Given the description of an element on the screen output the (x, y) to click on. 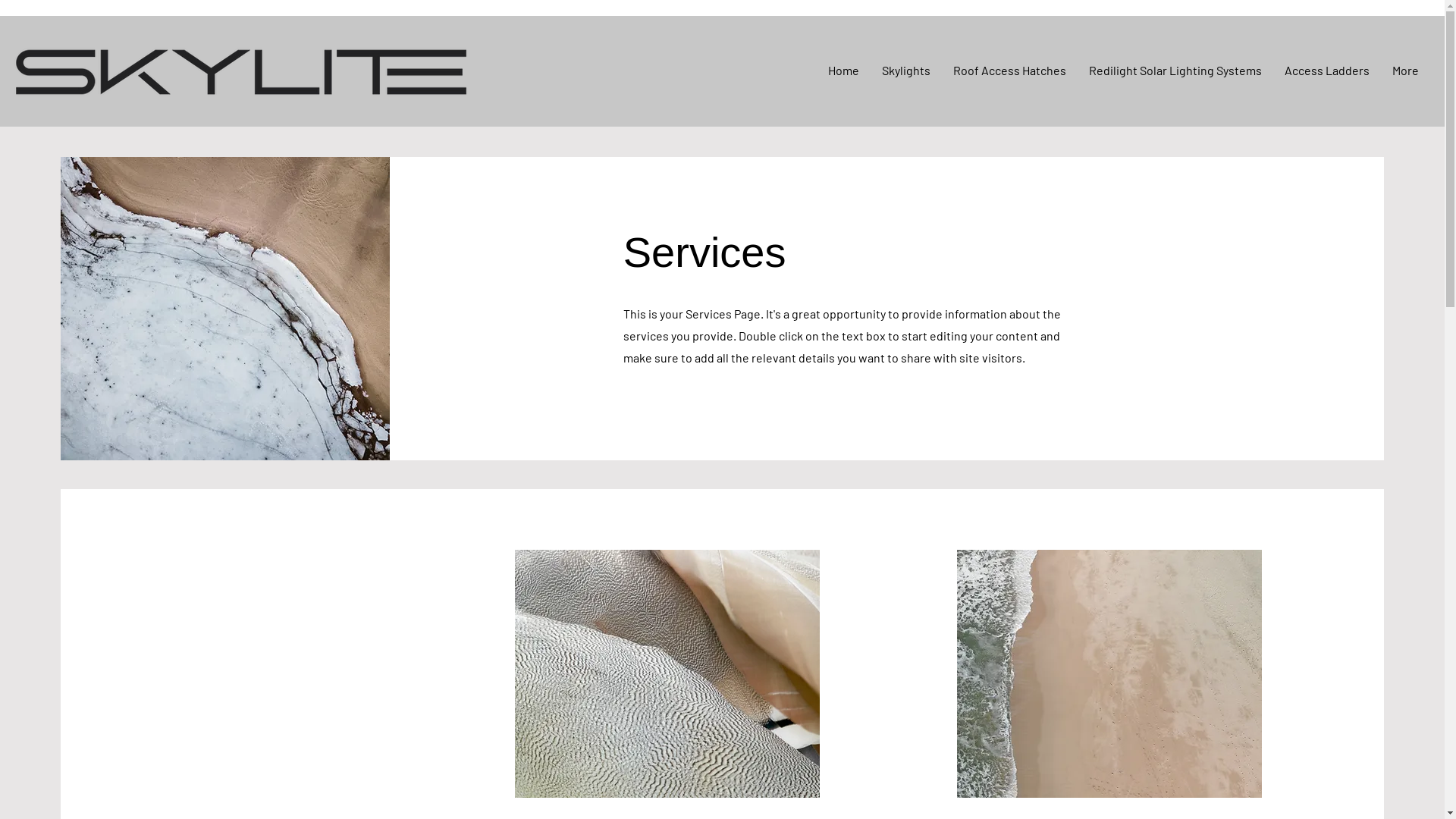
Skylights Element type: text (905, 70)
Redilight Solar Lighting Systems Element type: text (1175, 70)
Access Ladders Element type: text (1326, 70)
Home Element type: text (843, 70)
Roof Access Hatches Element type: text (1009, 70)
